Given the description of an element on the screen output the (x, y) to click on. 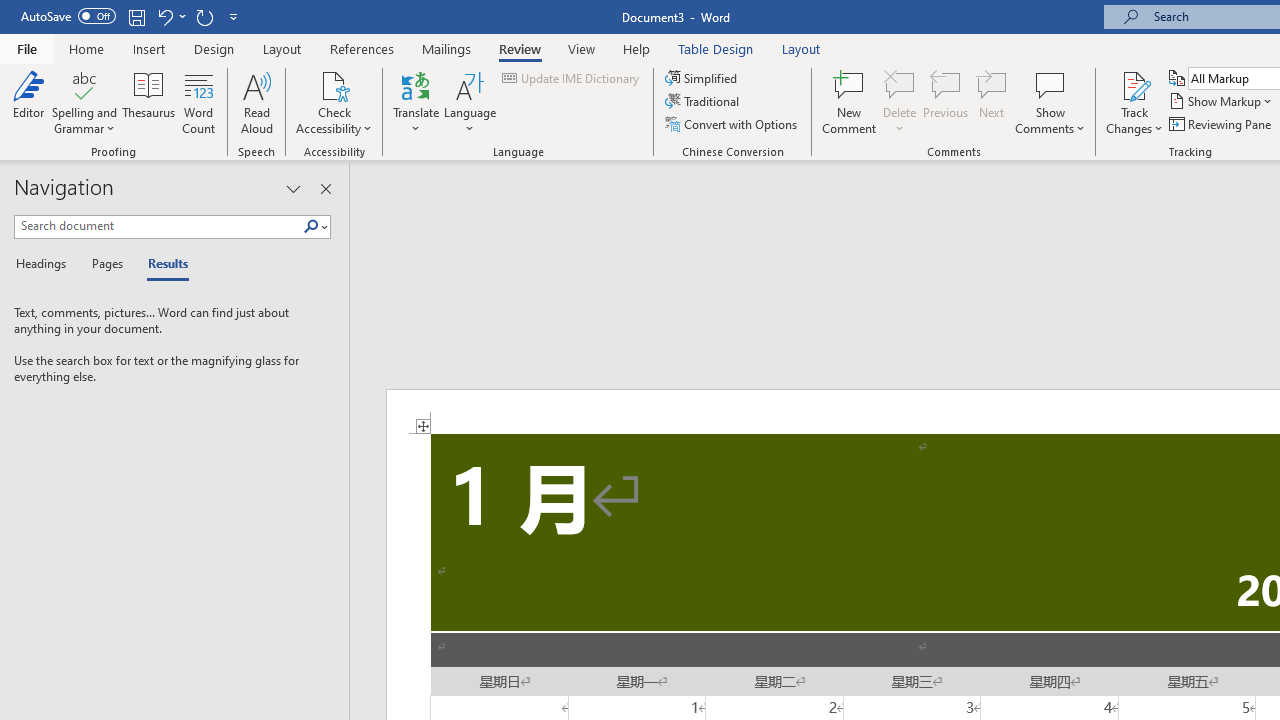
Convert with Options... (732, 124)
Spelling and Grammar (84, 102)
Translate (415, 102)
Simplified (702, 78)
Read Aloud (256, 102)
Word Count (198, 102)
